Given the description of an element on the screen output the (x, y) to click on. 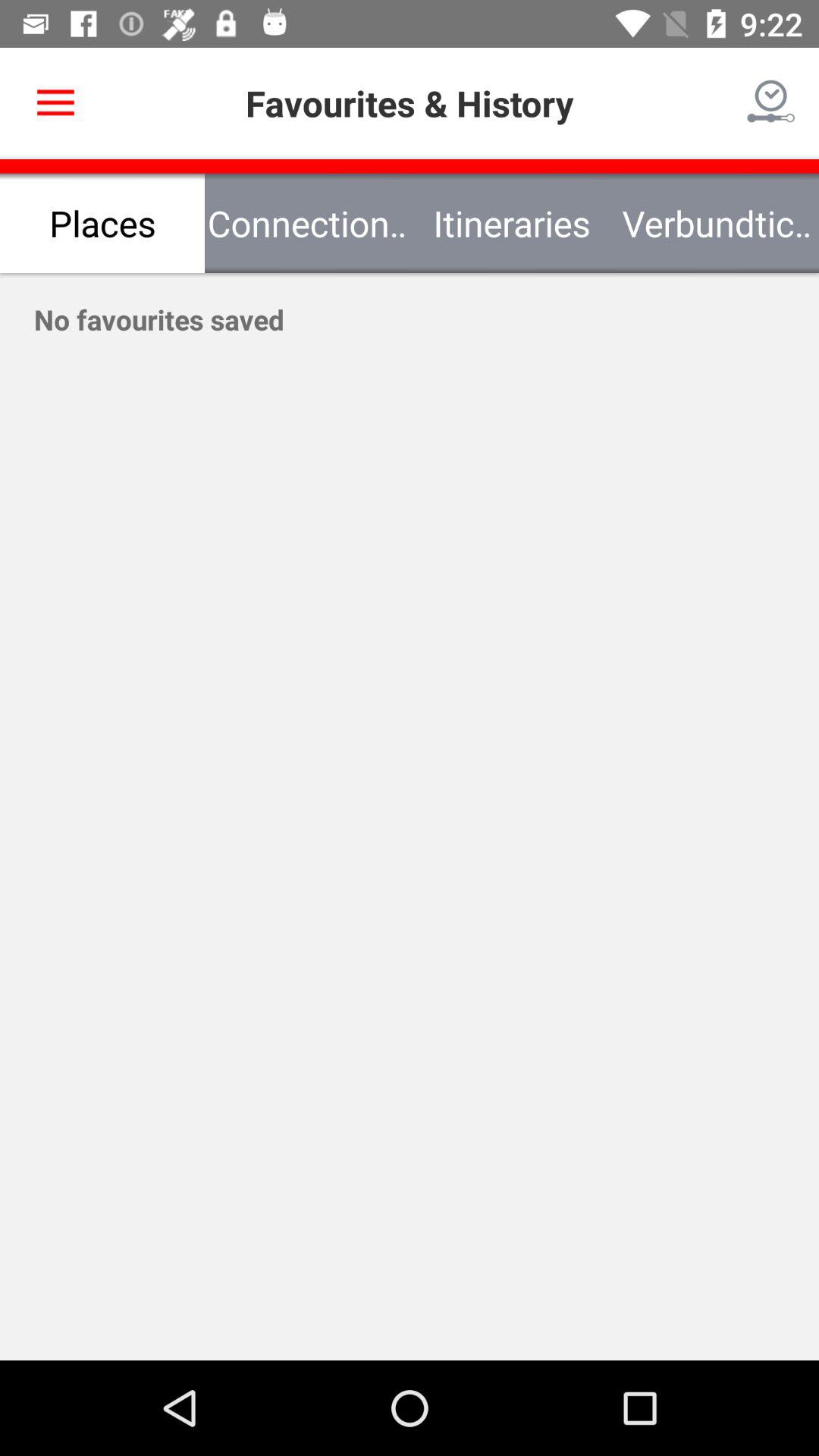
tap the item next to itineraries item (306, 223)
